Given the description of an element on the screen output the (x, y) to click on. 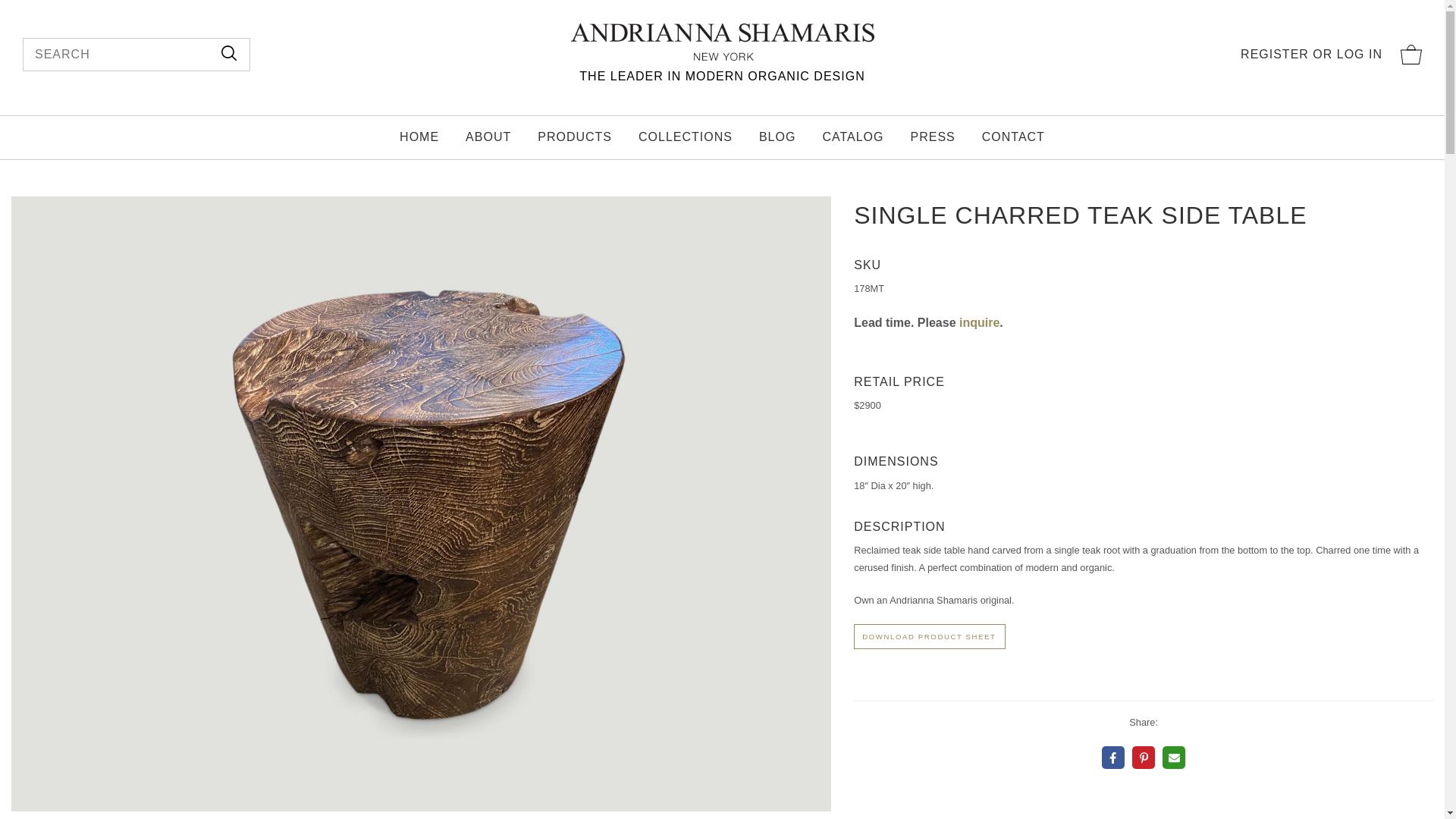
PRODUCTS (574, 137)
COLLECTIONS (685, 137)
PRESS (932, 137)
CATALOG (852, 137)
CART (1411, 54)
CONTACT (1013, 137)
REGISTER OR LOG IN (1310, 54)
HOME (418, 137)
ABOUT (488, 137)
Search (229, 54)
